Given the description of an element on the screen output the (x, y) to click on. 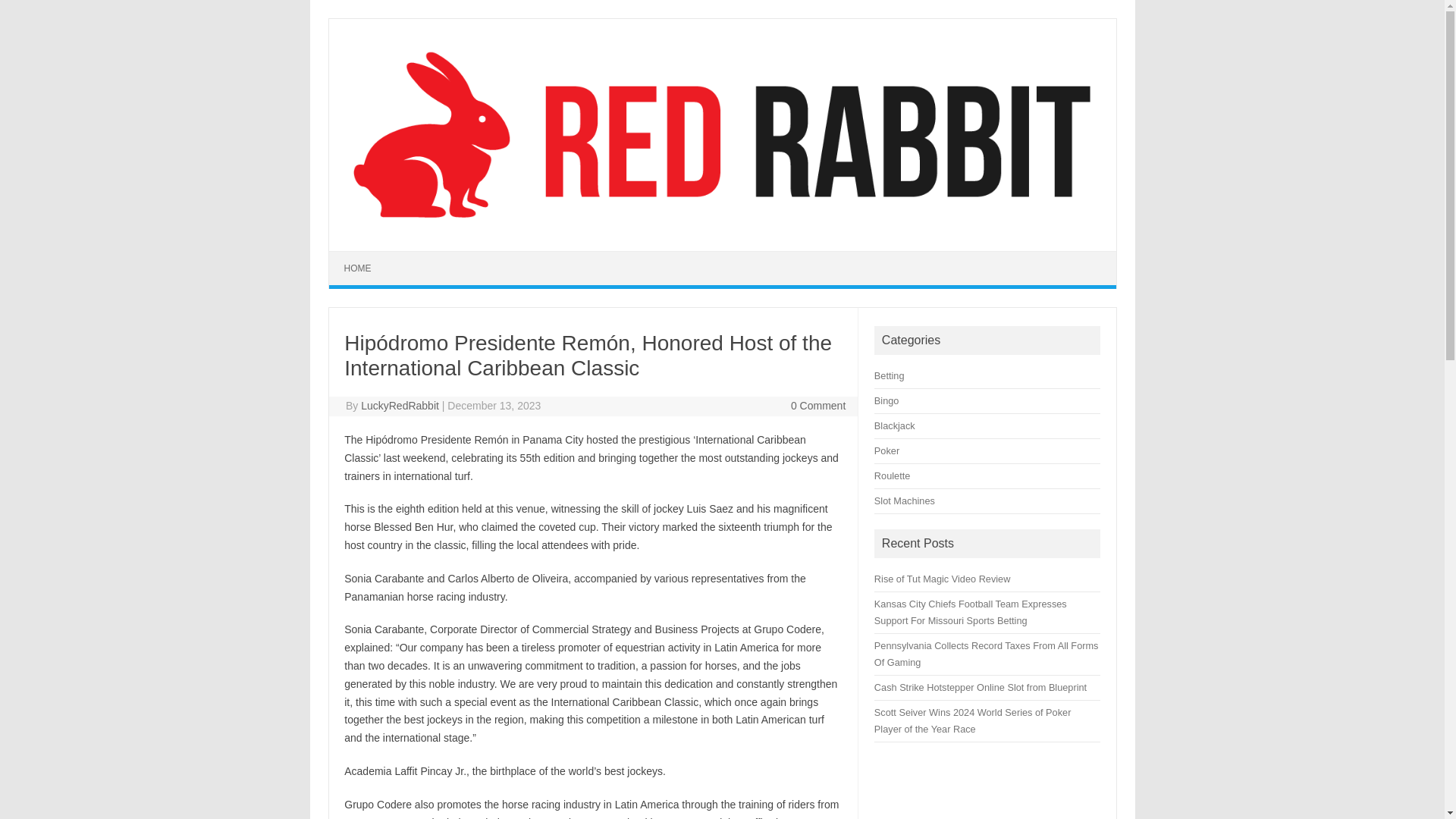
Slot Machines (904, 500)
Rise of Tut Magic Video Review (942, 578)
Skip to content (363, 255)
LuckyRedRabbit (400, 405)
HOME (358, 268)
Cash Strike Hotstepper Online Slot from Blueprint (980, 686)
Roulette (892, 475)
Pennsylvania Collects Record Taxes From All Forms Of Gaming (987, 653)
Skip to content (363, 255)
Bingo (887, 400)
Posts by LuckyRedRabbit (400, 405)
Blackjack (895, 425)
0 Comment (817, 405)
Betting (889, 375)
